Given the description of an element on the screen output the (x, y) to click on. 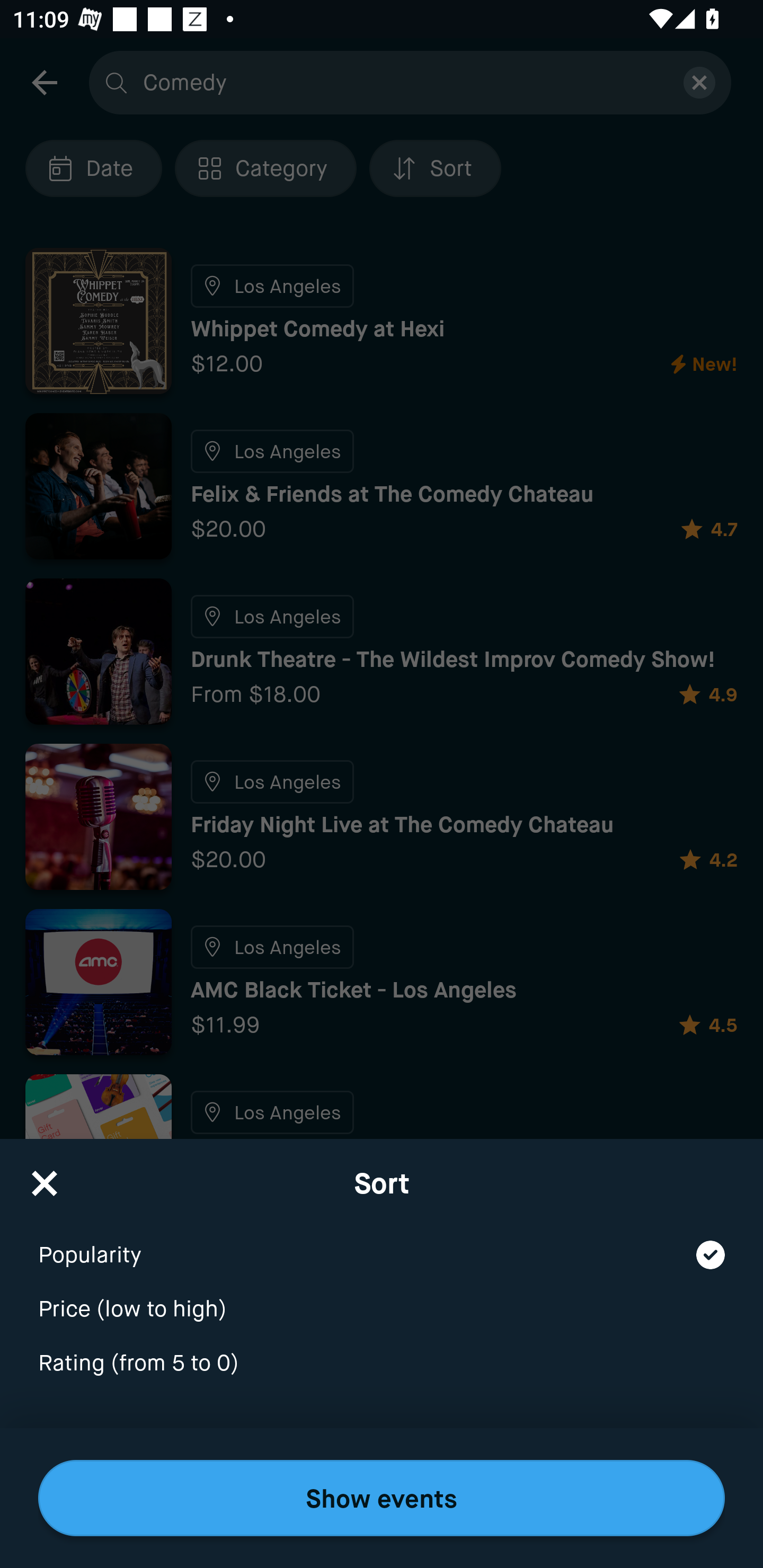
CloseButton (44, 1177)
Popularity Selected Icon (381, 1243)
Price (low to high) (381, 1297)
Rating (from 5 to 0) (381, 1362)
Show events (381, 1497)
